Given the description of an element on the screen output the (x, y) to click on. 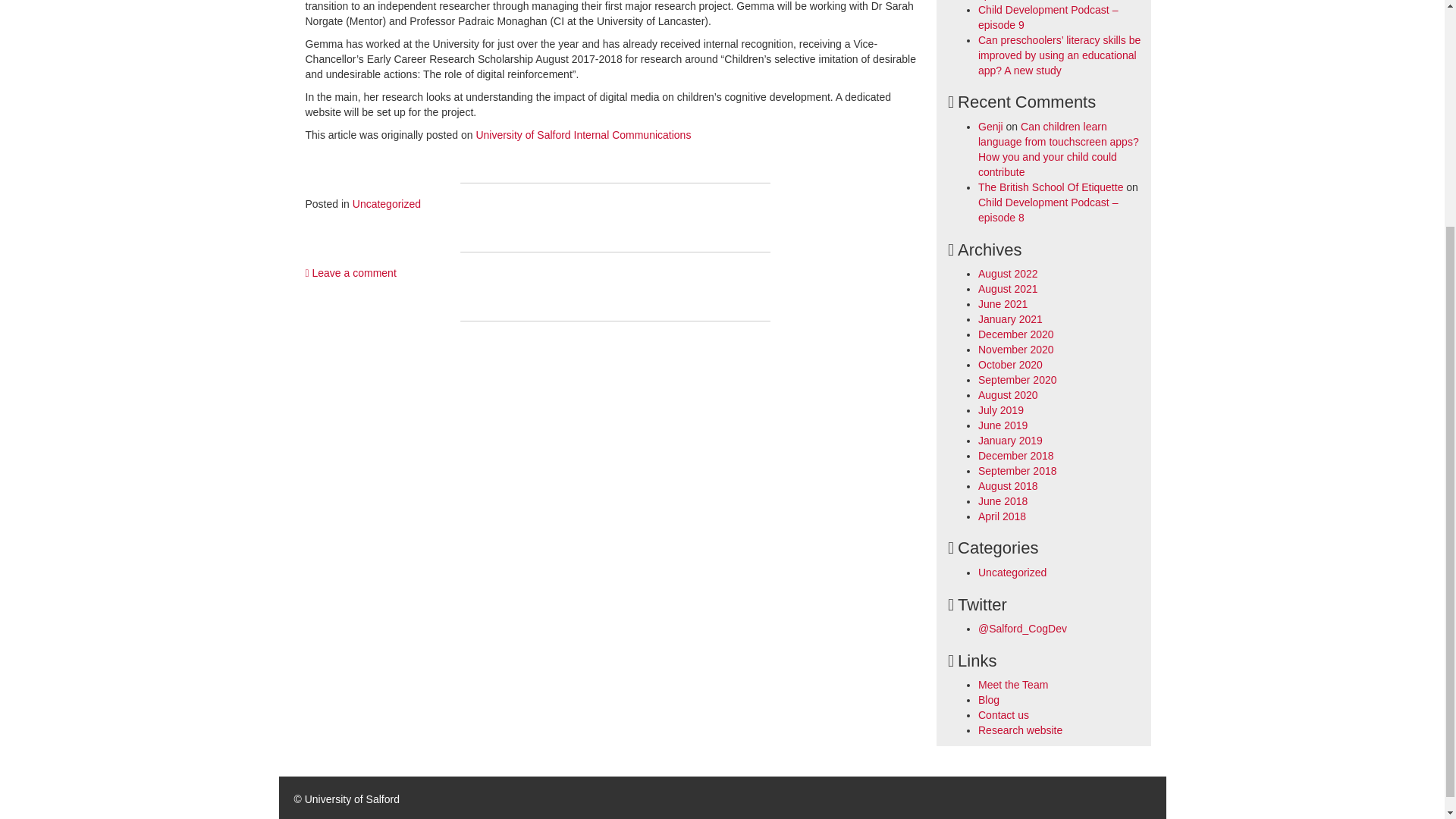
October 2020 (1010, 364)
September 2020 (1017, 379)
Uncategorized (1012, 572)
July 2019 (1000, 410)
Leave a comment (350, 272)
August 2020 (1008, 395)
June 2019 (1002, 425)
Meet the Team (1013, 684)
Genji (990, 126)
August 2022 (1008, 273)
